Given the description of an element on the screen output the (x, y) to click on. 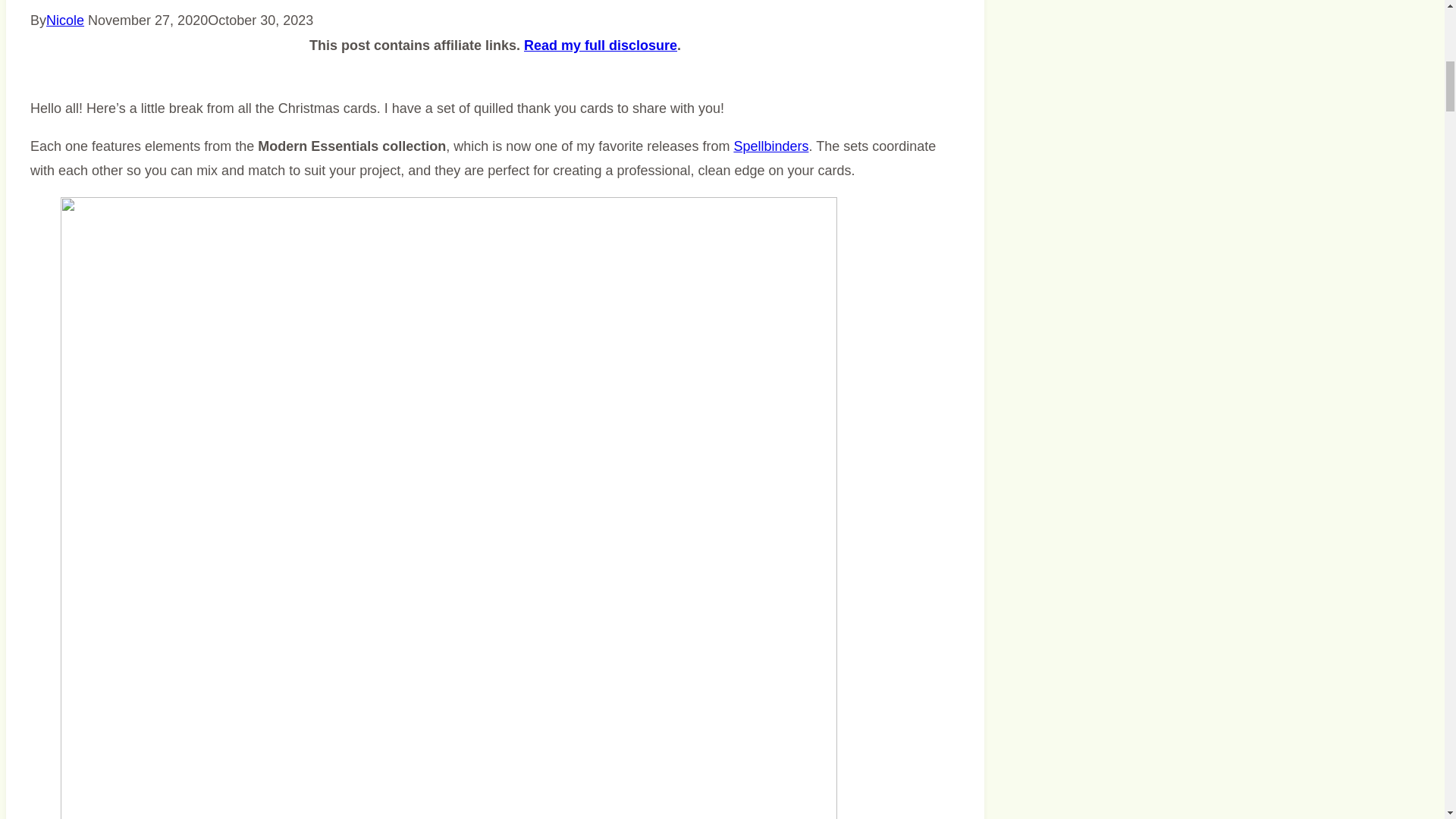
Spellbinders (770, 145)
Nicole (65, 20)
Read my full disclosure (600, 45)
